Given the description of an element on the screen output the (x, y) to click on. 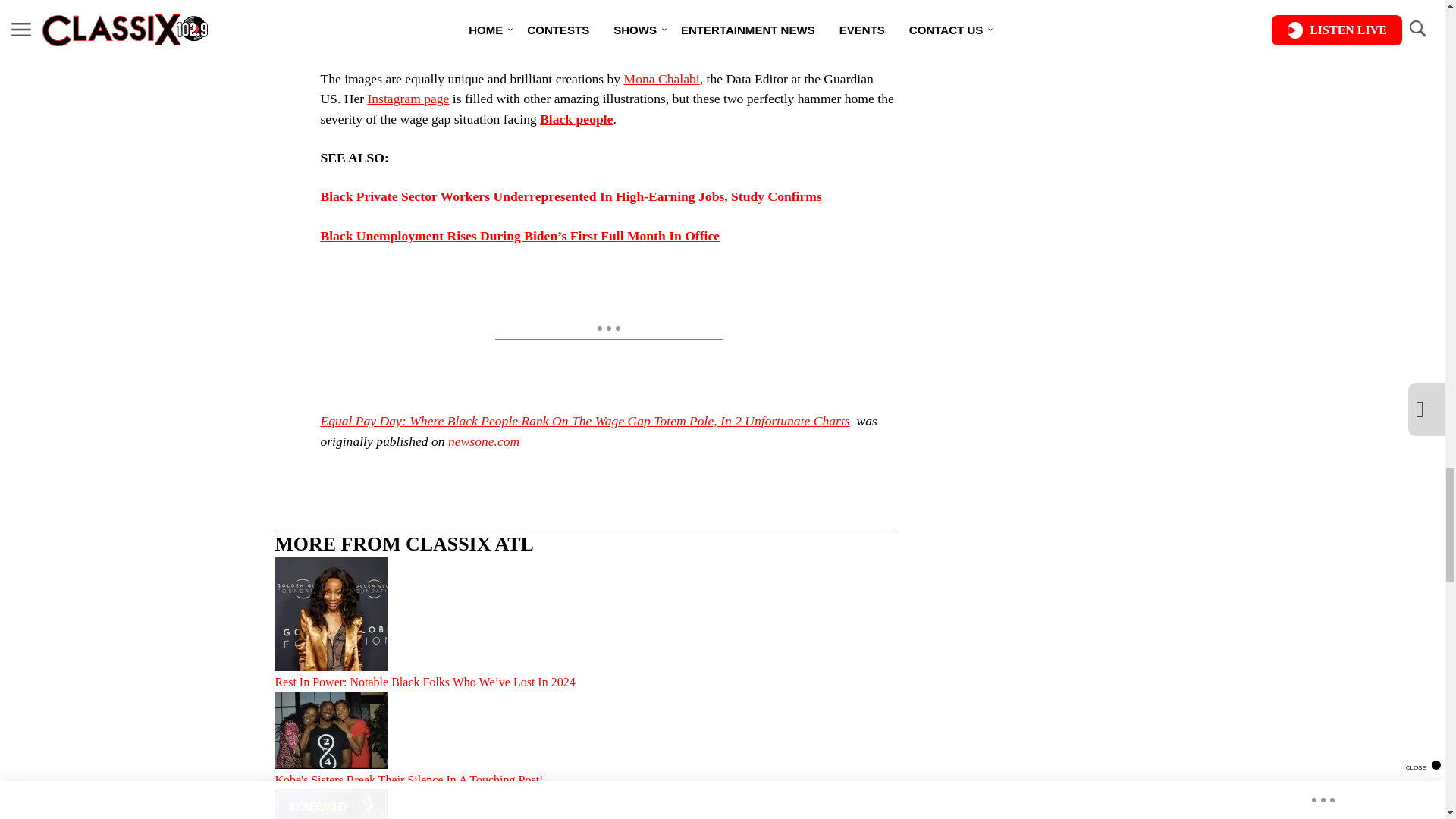
Black people (576, 118)
newsone.com (483, 441)
Mona Chalabi (662, 78)
Instagram page (407, 98)
